Given the description of an element on the screen output the (x, y) to click on. 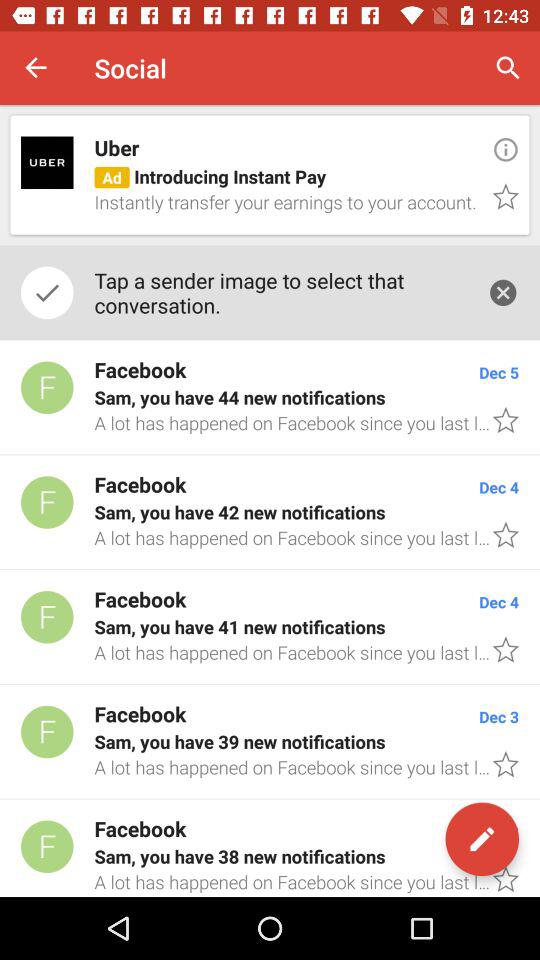
select item to the right of social icon (508, 67)
